Given the description of an element on the screen output the (x, y) to click on. 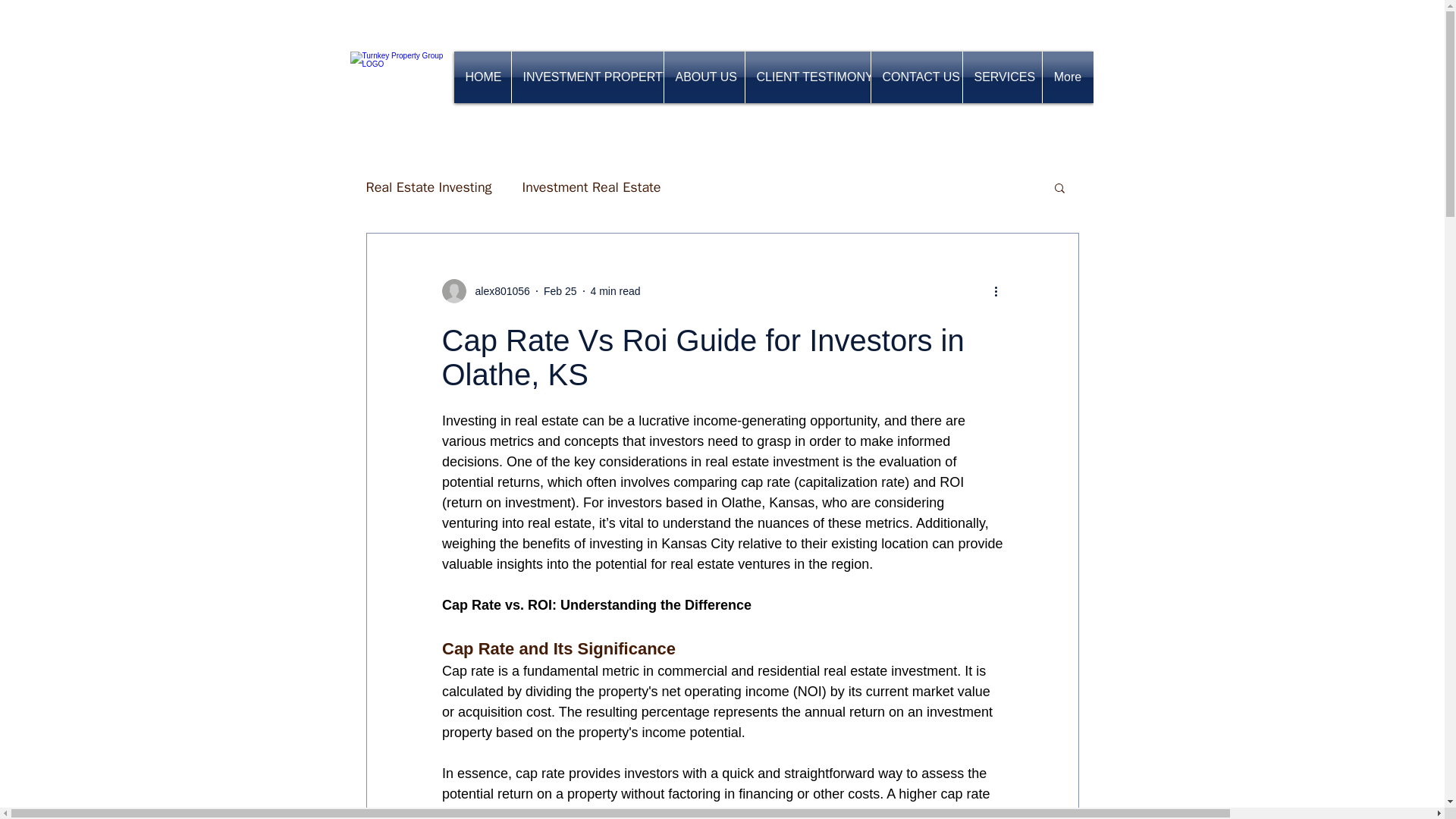
INVESTMENT PROPERTY (586, 77)
ABOUT US (703, 77)
Real Estate Investing (428, 187)
CLIENT TESTIMONY (806, 77)
HOME (481, 77)
CONTACT US (915, 77)
4 min read (614, 291)
SERVICES (1002, 77)
alex801056 (485, 291)
Feb 25 (559, 291)
Investment Real Estate (591, 187)
alex801056 (497, 291)
